Given the description of an element on the screen output the (x, y) to click on. 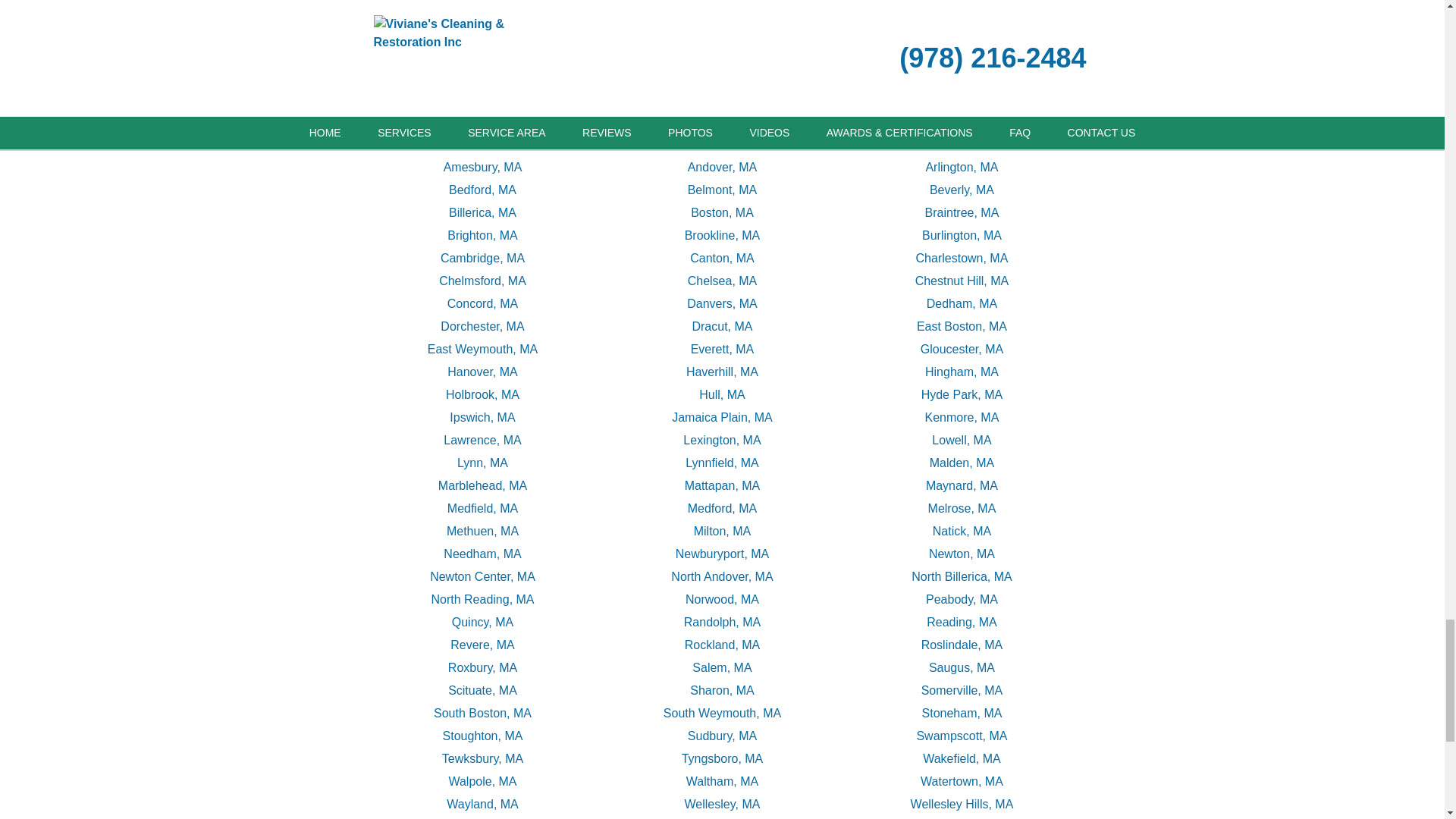
Instagram (665, 6)
Foursquare (773, 6)
